Given the description of an element on the screen output the (x, y) to click on. 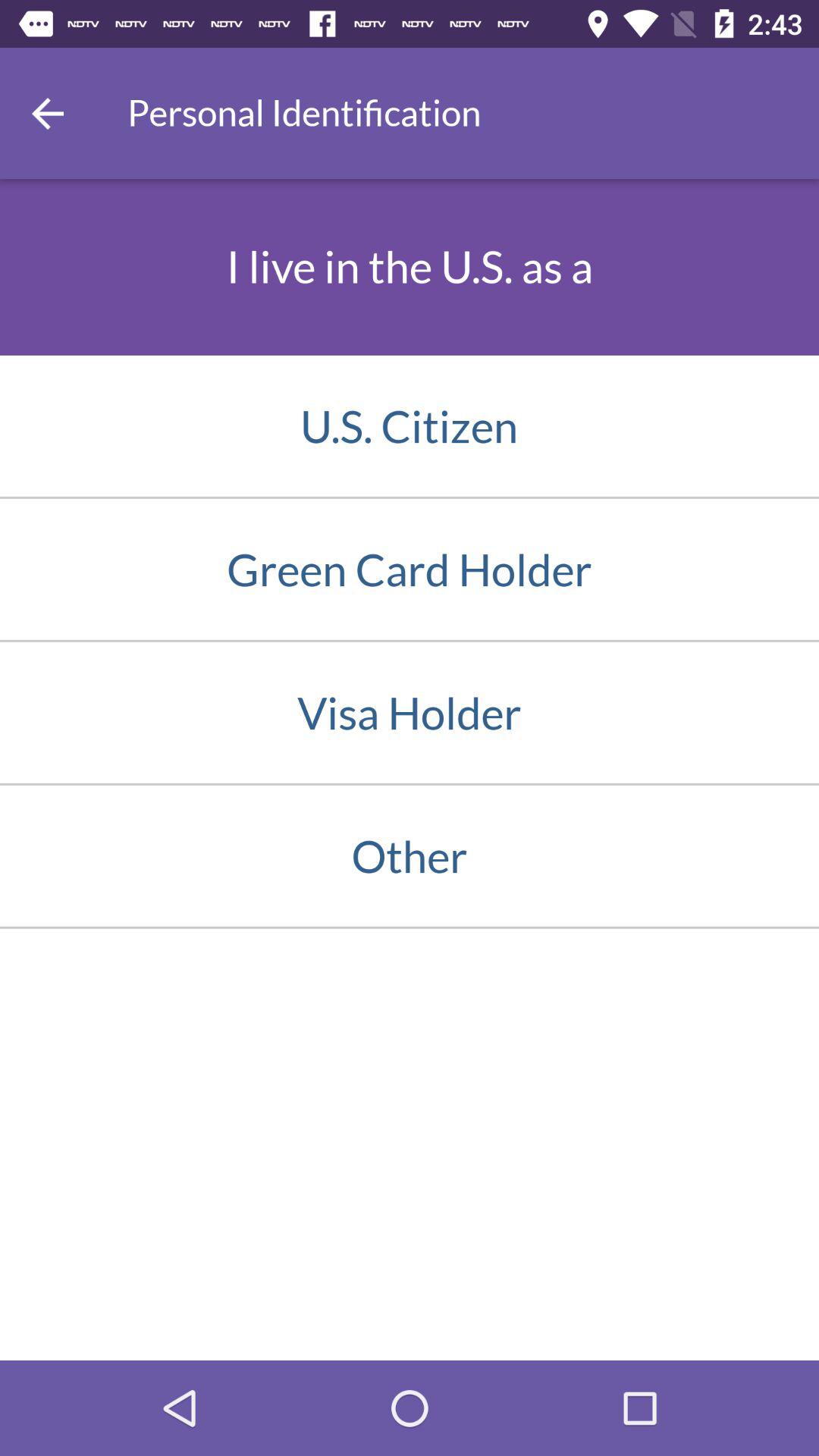
choose icon next to personal identification icon (47, 113)
